Given the description of an element on the screen output the (x, y) to click on. 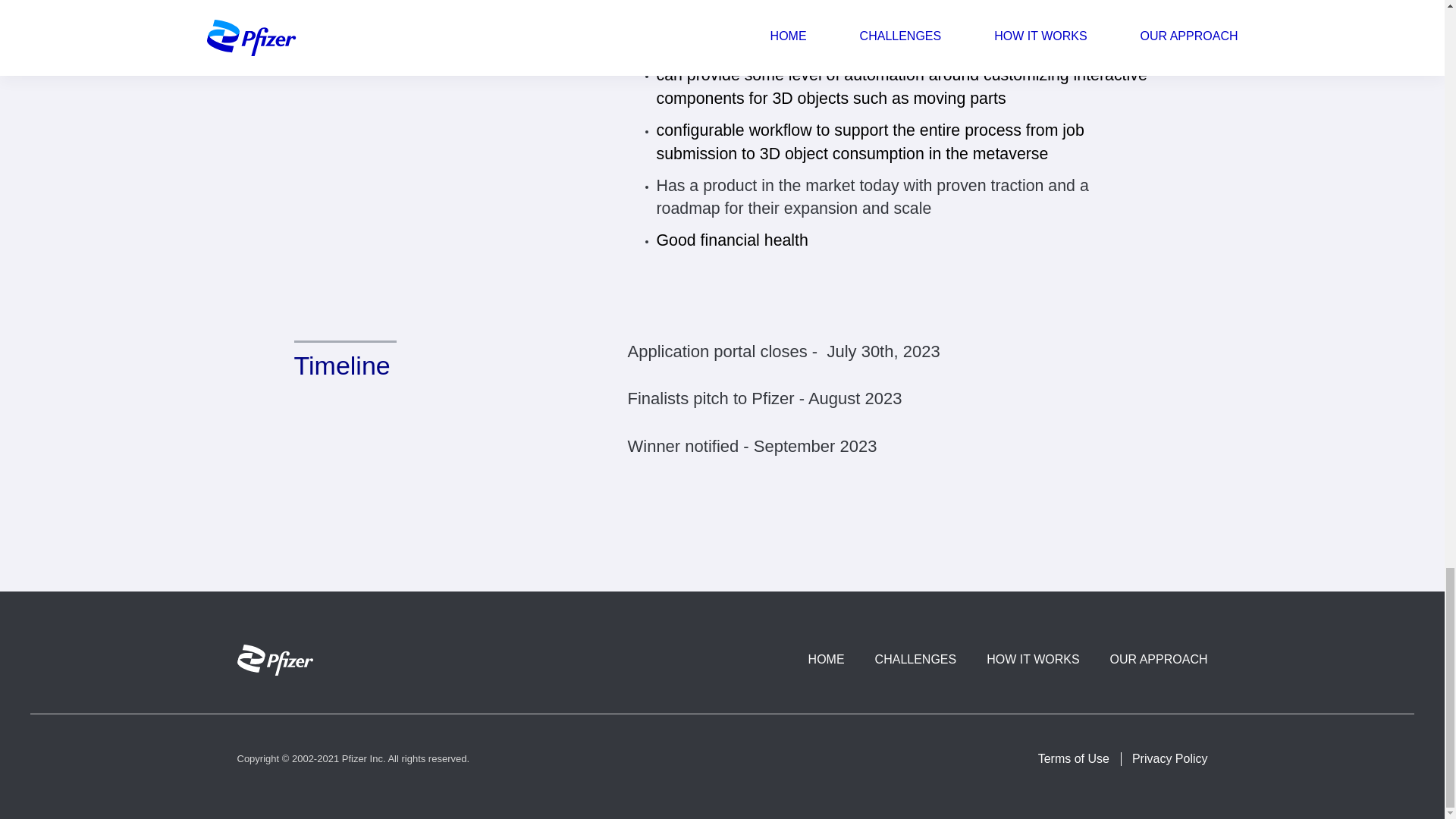
Privacy Policy (1170, 758)
HOME (826, 658)
CHALLENGES (915, 658)
HOW IT WORKS (1032, 658)
Terms of Use (1073, 758)
Digital Accelarator (274, 659)
OUR APPROACH (1158, 658)
